Given the description of an element on the screen output the (x, y) to click on. 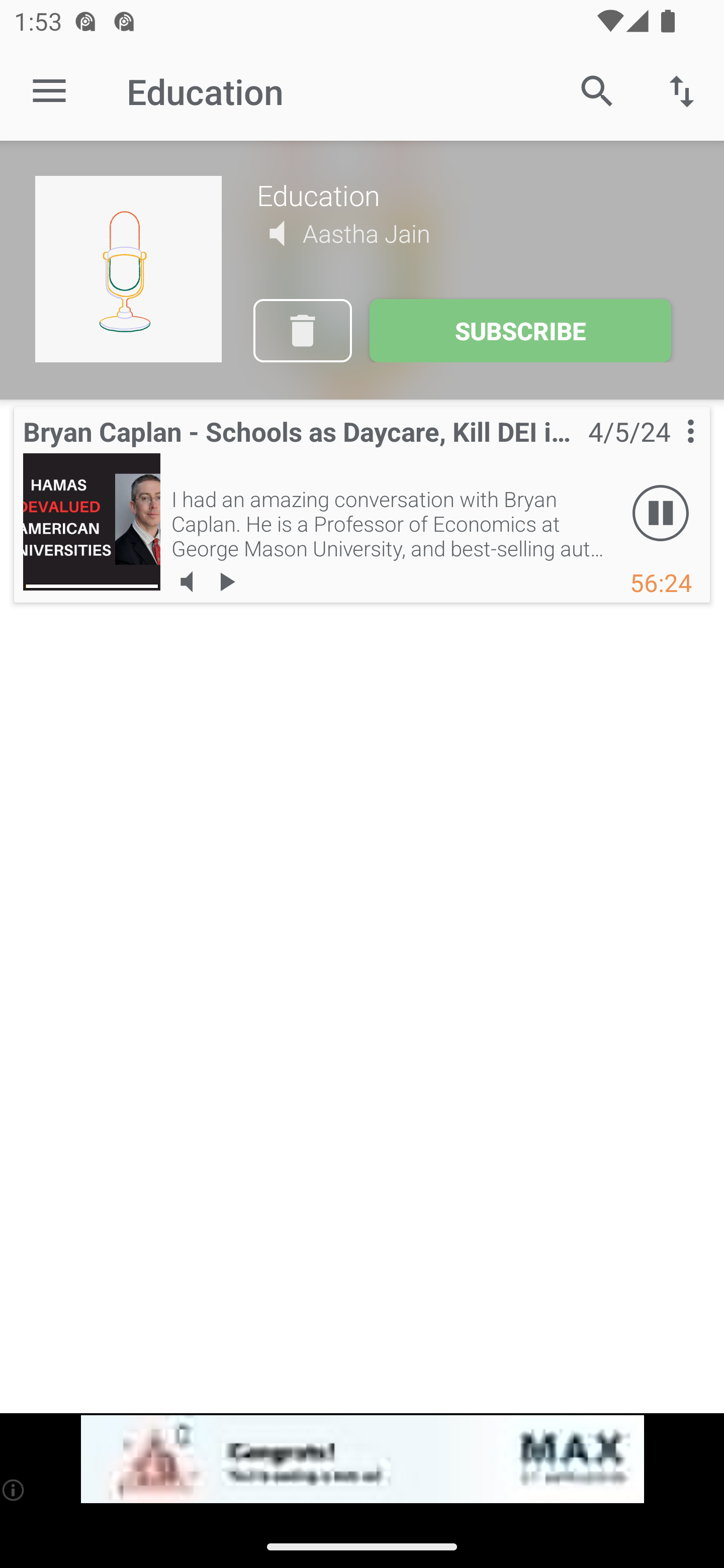
Open navigation sidebar (49, 91)
Search (597, 90)
Sort (681, 90)
Delete (302, 330)
SUBSCRIBE (520, 330)
Contextual menu (668, 451)
Pause (660, 513)
app-monetization (362, 1459)
(i) (14, 1489)
